Given the description of an element on the screen output the (x, y) to click on. 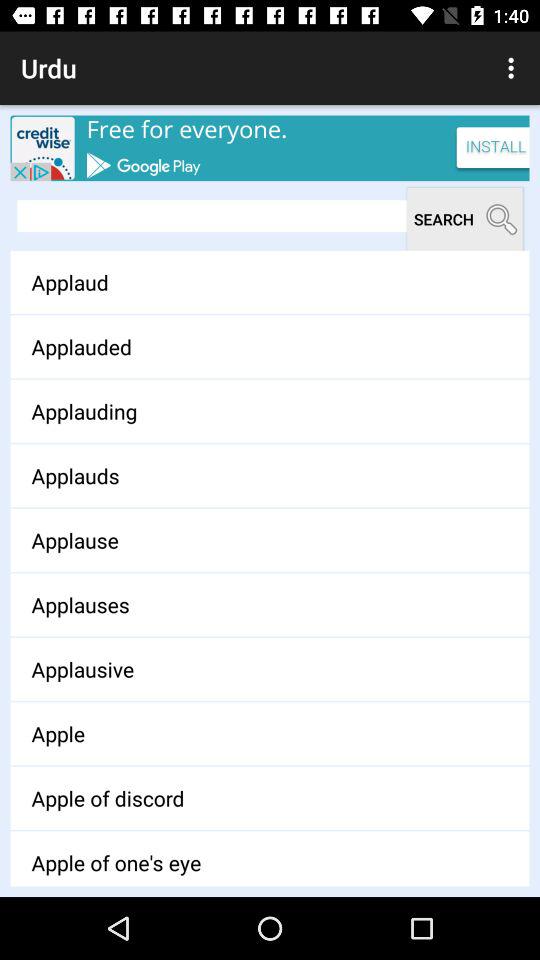
install credit wise (270, 148)
